Given the description of an element on the screen output the (x, y) to click on. 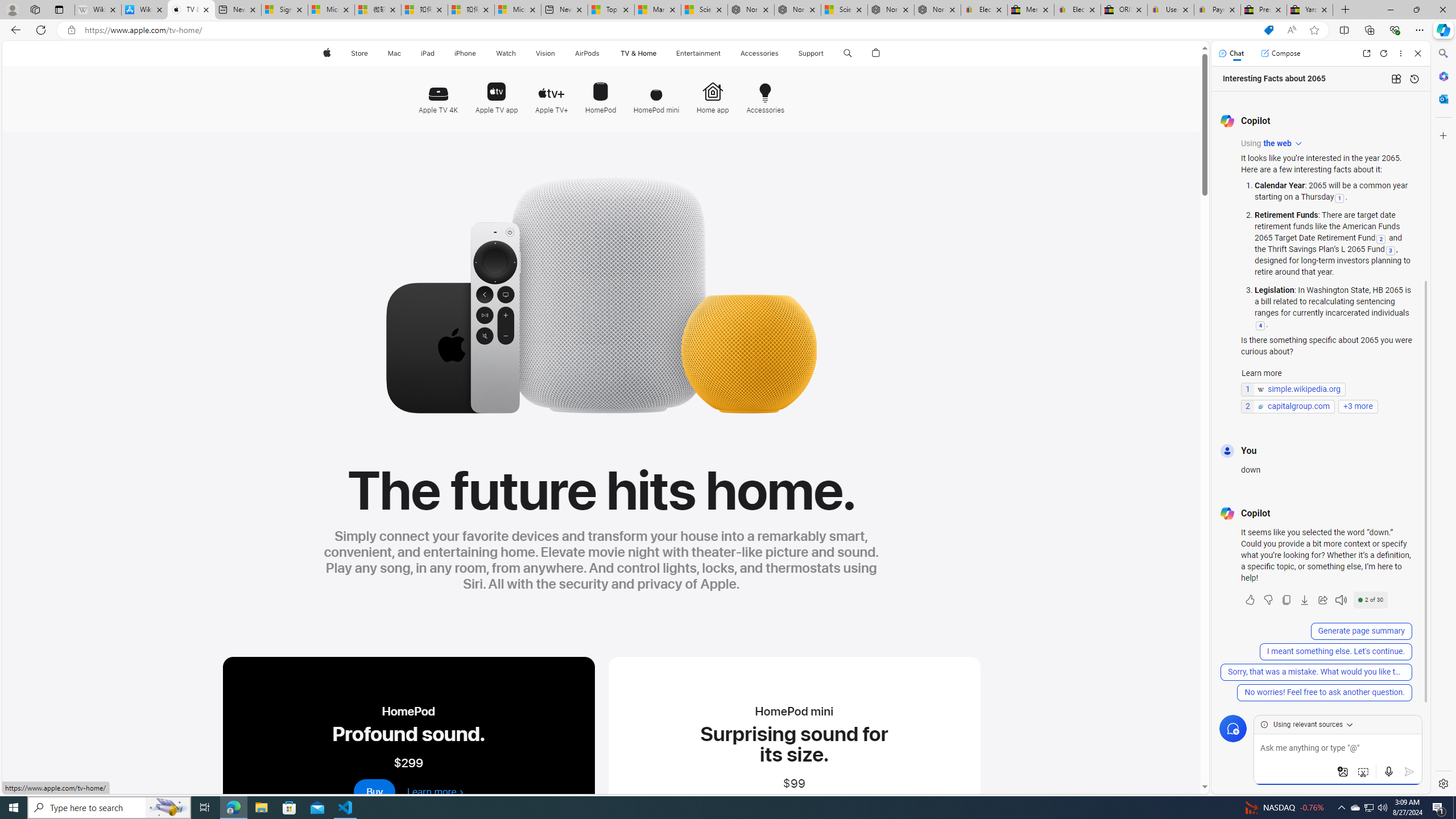
Accessories (762, 92)
Accessories menu (780, 53)
Vision (545, 53)
Open link in new tab (1366, 53)
Support (810, 53)
Apple TV app (496, 93)
Apple (325, 53)
learn more about homepod 2nd generation (434, 791)
